Given the description of an element on the screen output the (x, y) to click on. 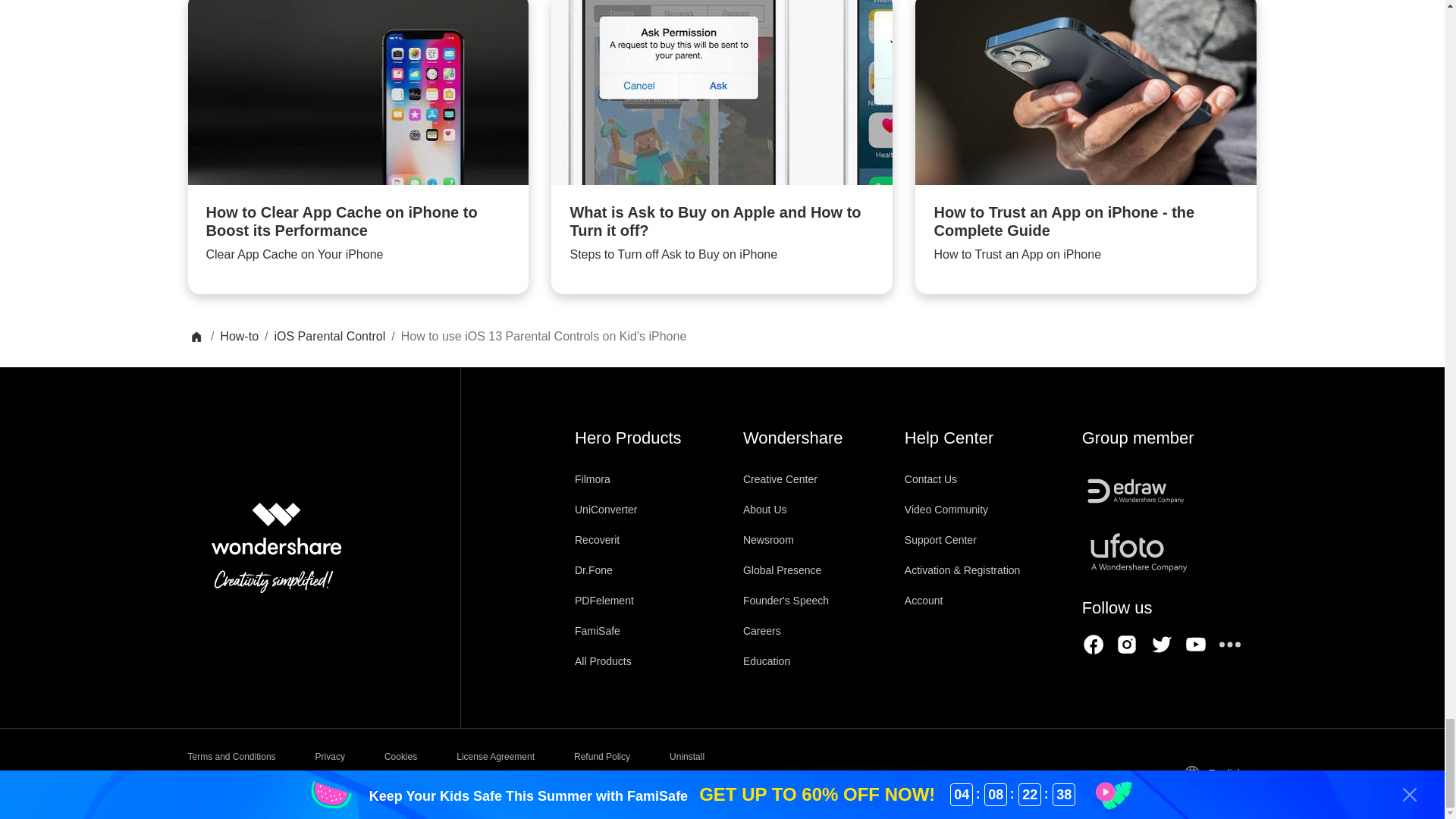
What is Ask to Buy on Apple and How to Turn it off? (721, 147)
How to Trust an App on iPhone - the Complete Guide (1085, 147)
How to Clear App Cache on iPhone to Boost its Performance (358, 147)
